Given the description of an element on the screen output the (x, y) to click on. 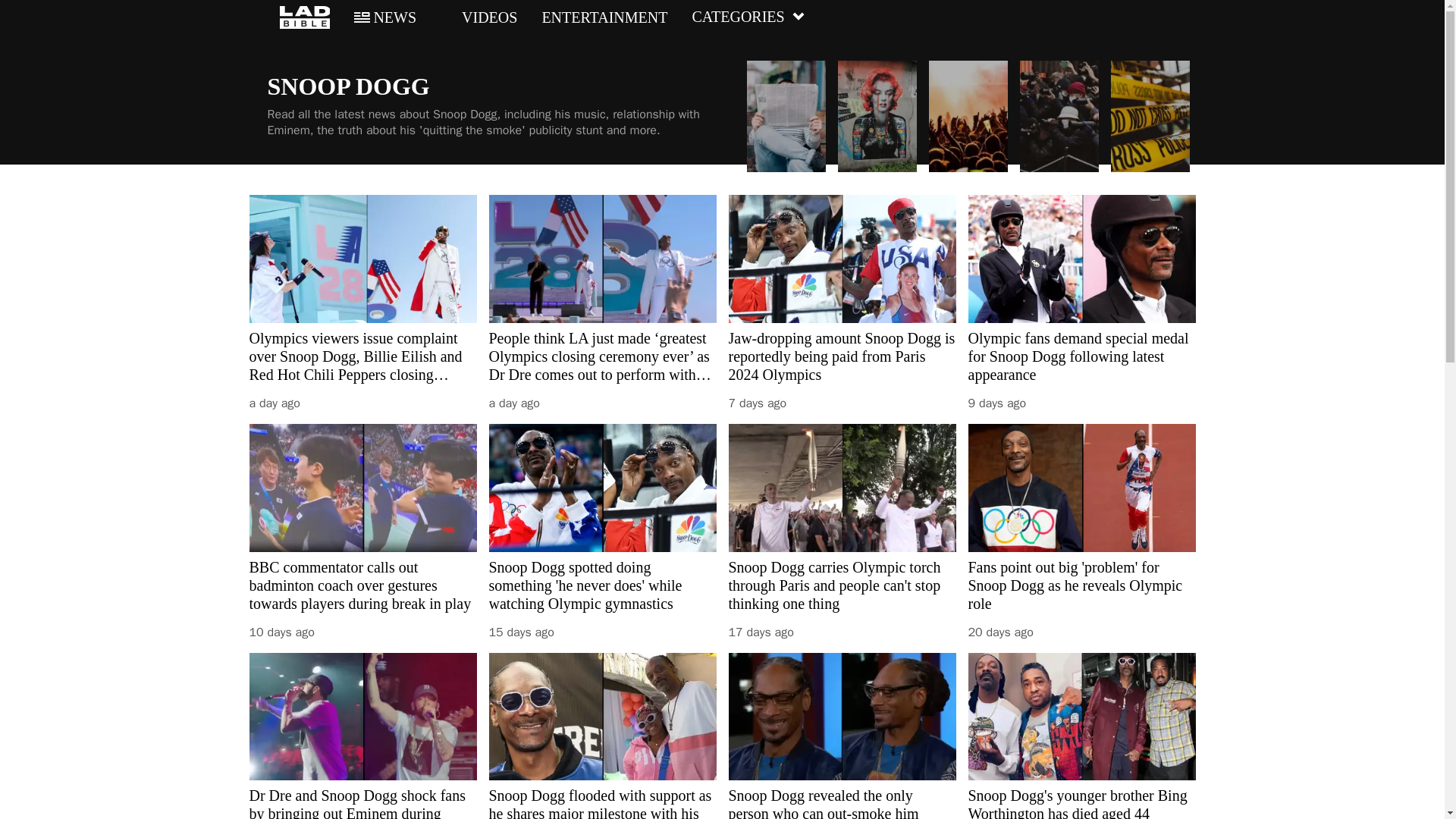
NEWS (384, 17)
CATEGORIES (748, 17)
ENTERTAINMENT (603, 17)
VIDEOS (478, 17)
